Given the description of an element on the screen output the (x, y) to click on. 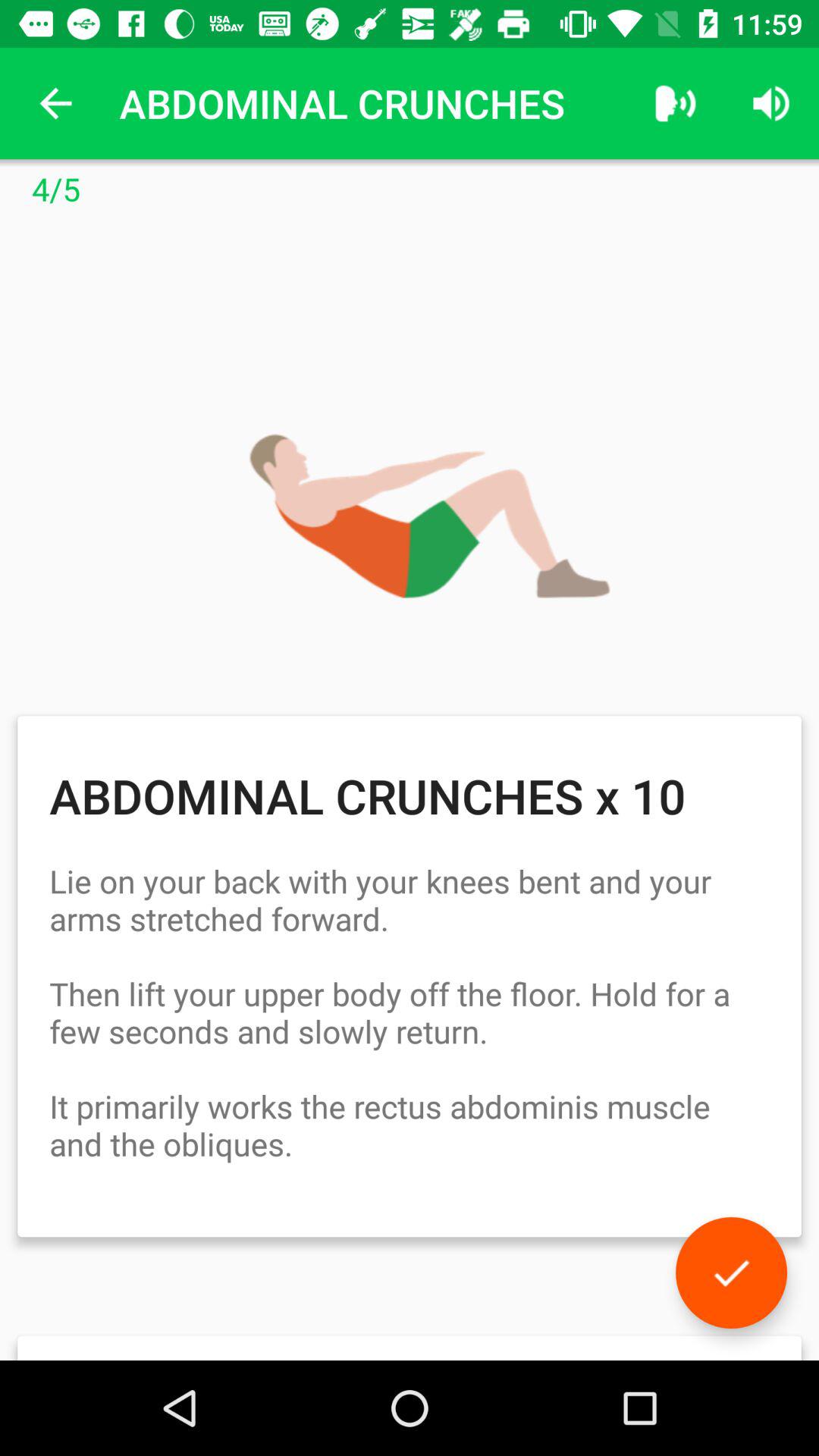
press the item to the right of the abdominal crunches icon (675, 103)
